Given the description of an element on the screen output the (x, y) to click on. 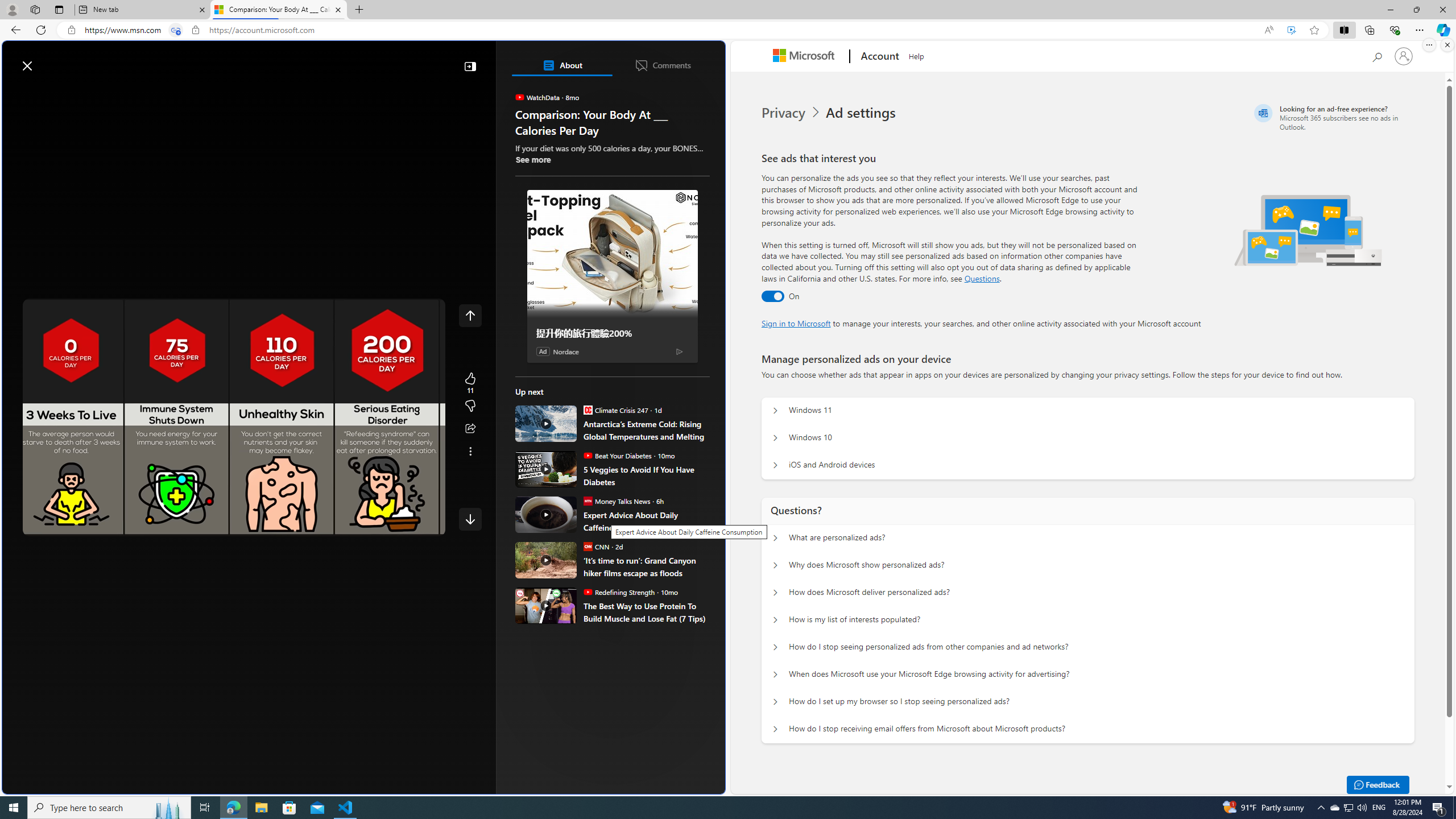
Close split screen. (1447, 45)
Class: control icon-only (469, 315)
Open Copilot (565, 59)
View site information (195, 29)
Share this story (469, 428)
Discover (52, 92)
CNN (587, 546)
